Given the description of an element on the screen output the (x, y) to click on. 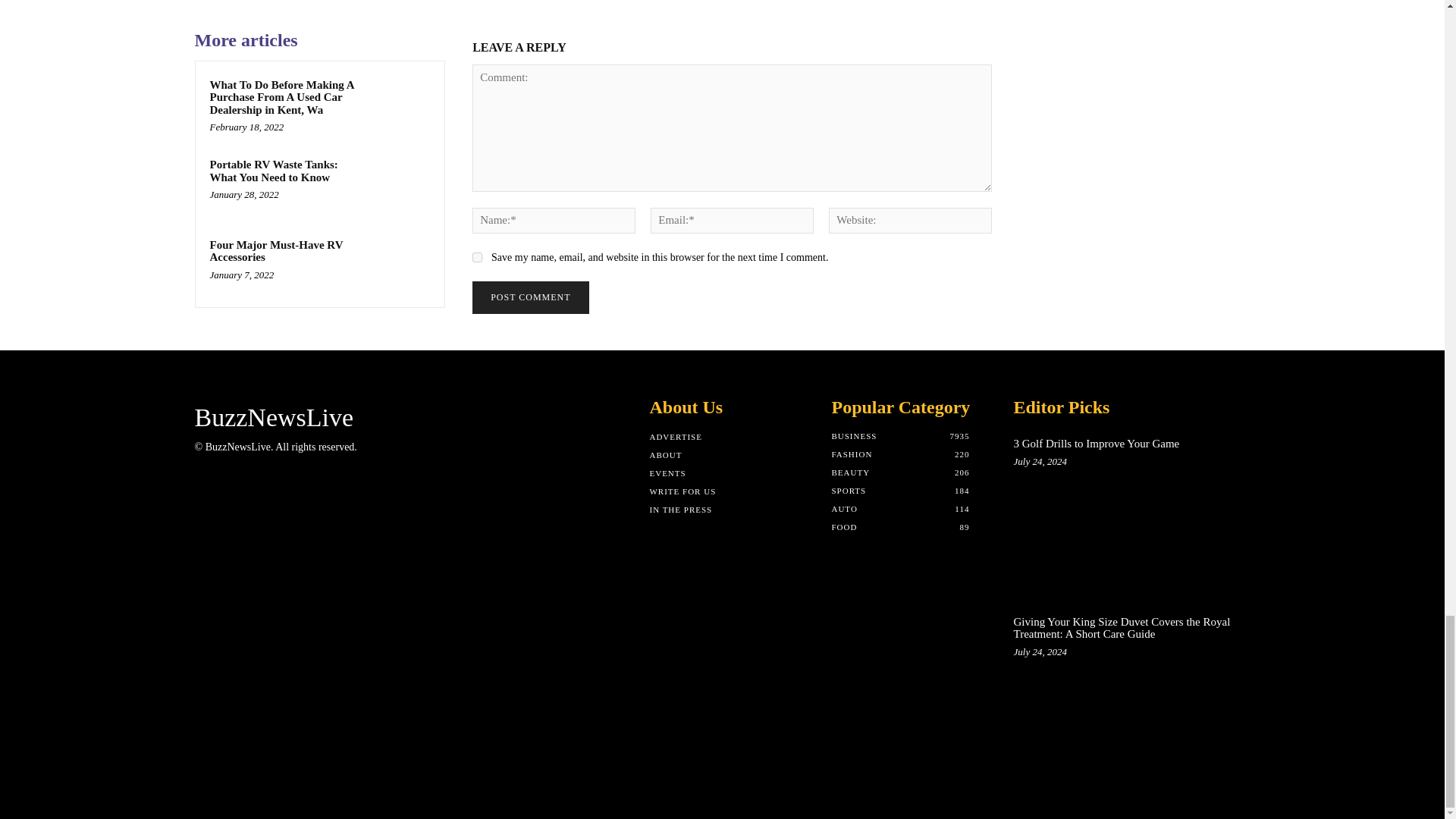
yes (476, 257)
Post Comment (529, 297)
